Given the description of an element on the screen output the (x, y) to click on. 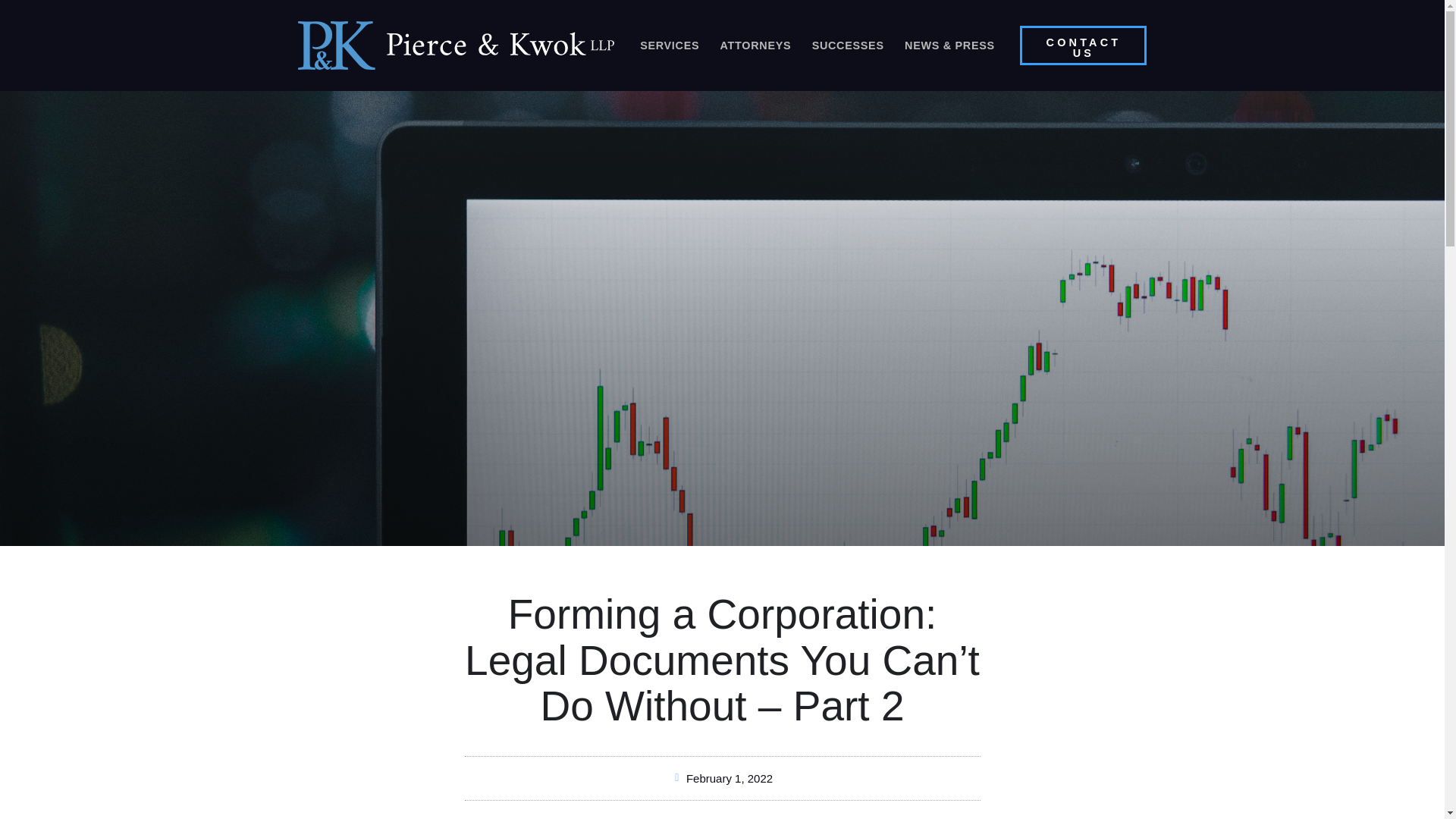
SERVICES (668, 45)
SUCCESSES (847, 45)
ATTORNEYS (756, 45)
